Given the description of an element on the screen output the (x, y) to click on. 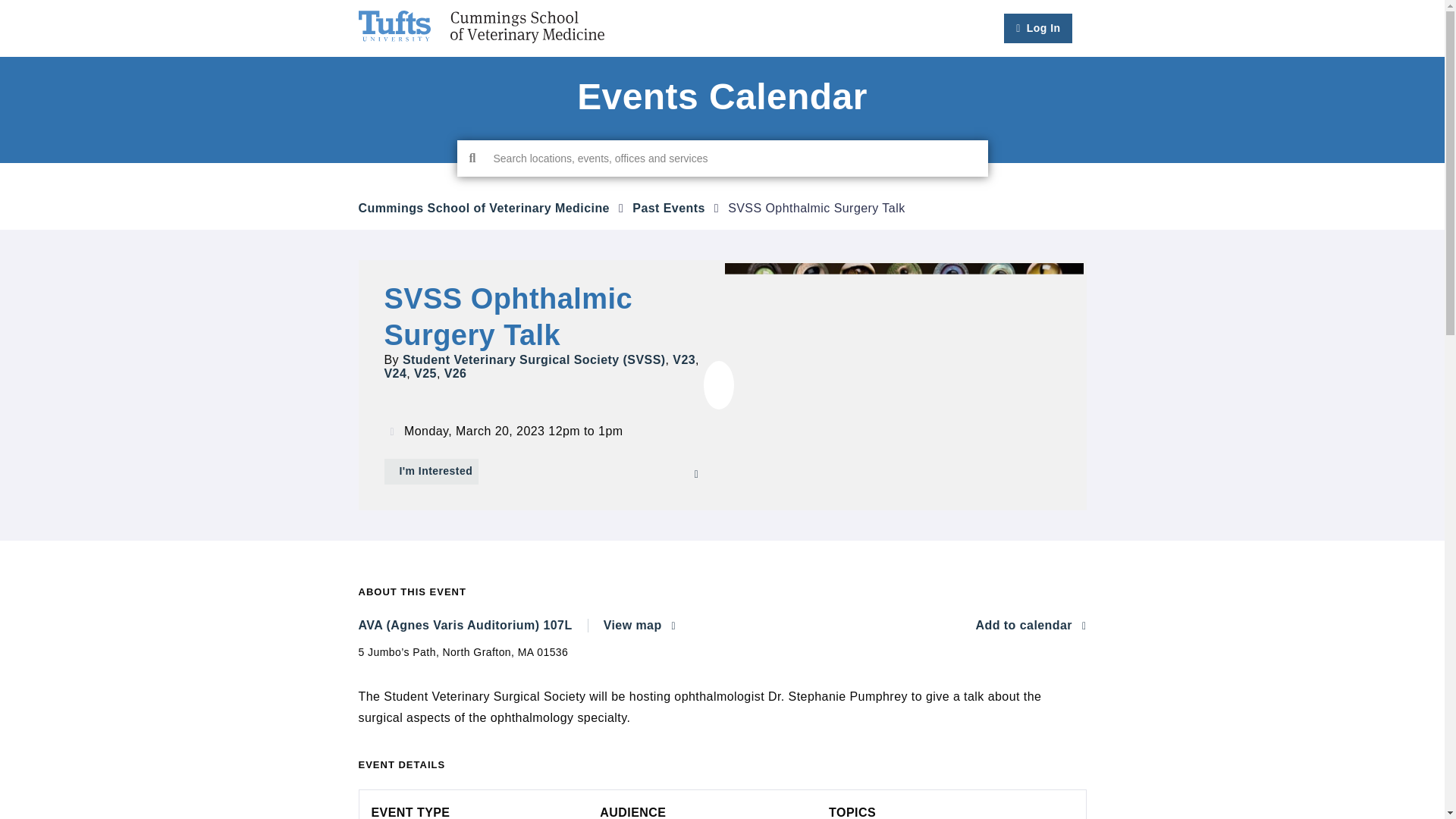
V24 (395, 373)
Past Events (667, 207)
Home (481, 28)
Add to calendar (1030, 625)
Log In (1038, 28)
Cummings School of Veterinary Medicine (483, 207)
Events Calendar (721, 96)
V26 (455, 373)
I'm Interested (431, 471)
V23 (683, 359)
V25 (424, 373)
View map (639, 625)
